Given the description of an element on the screen output the (x, y) to click on. 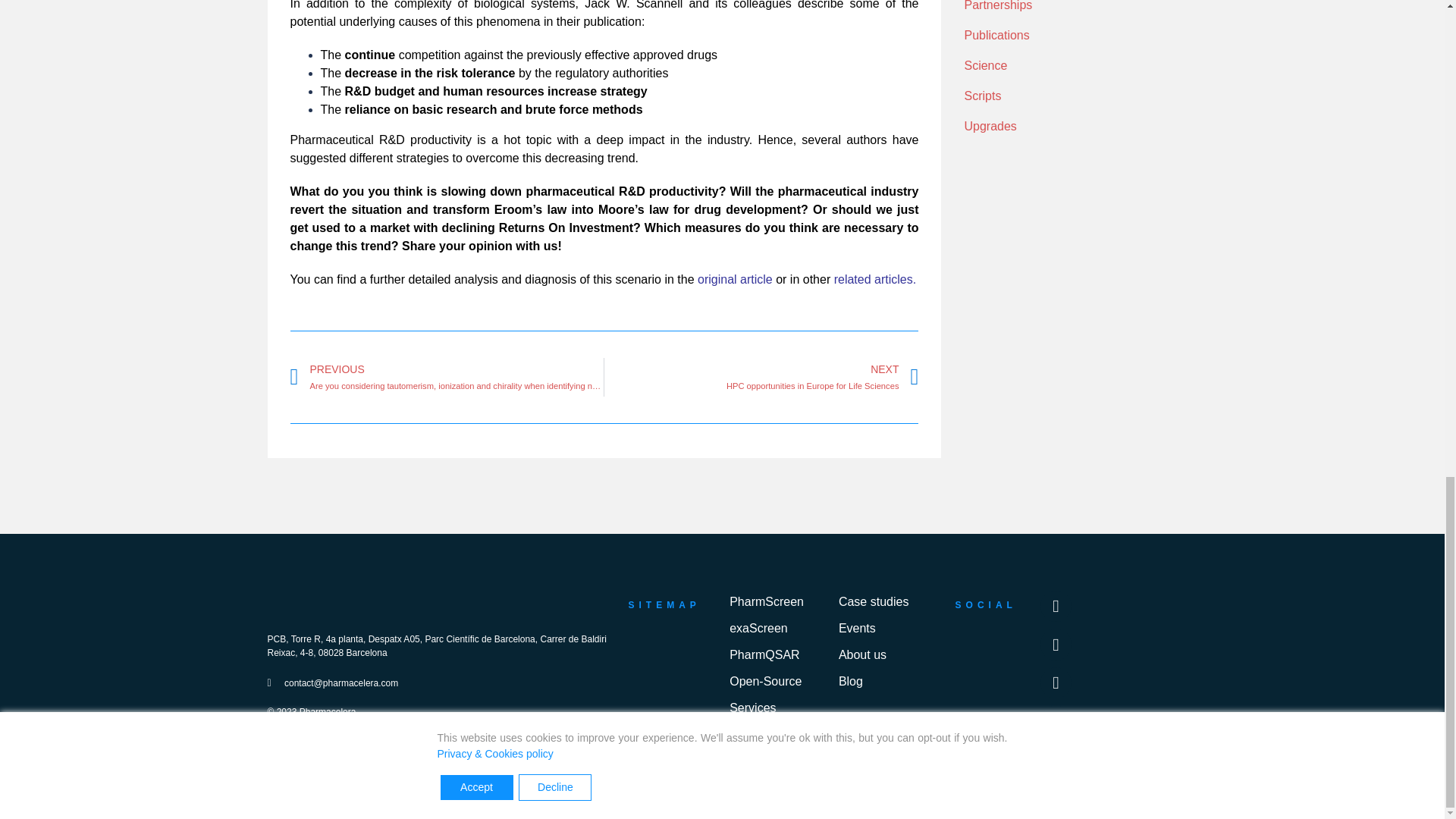
original article (735, 278)
related articles (873, 278)
